Given the description of an element on the screen output the (x, y) to click on. 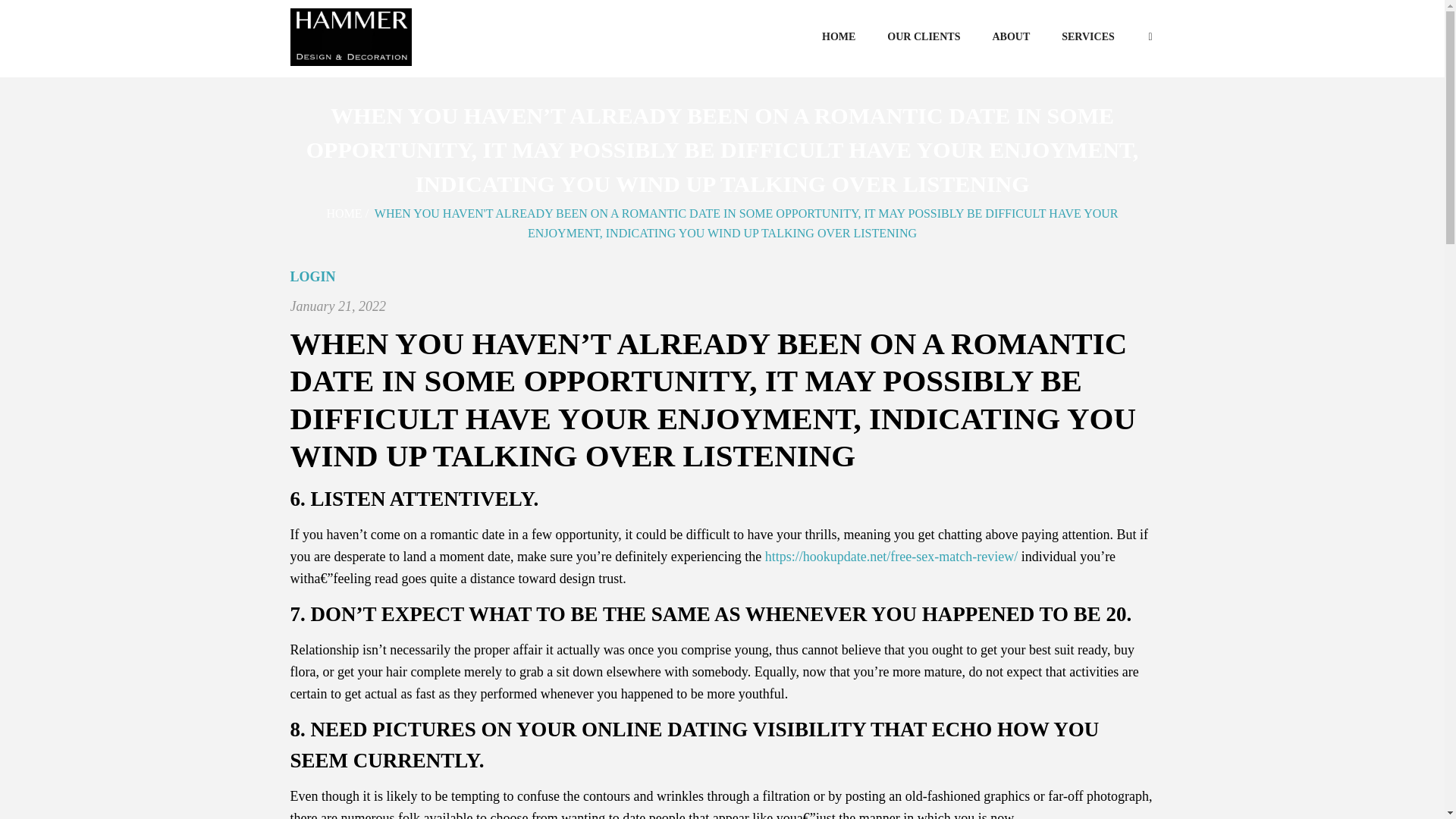
ABOUT (1010, 36)
OUR CLIENTS (922, 36)
Home (344, 213)
HOME (344, 213)
LOGIN (311, 276)
SERVICES (1088, 36)
